Given the description of an element on the screen output the (x, y) to click on. 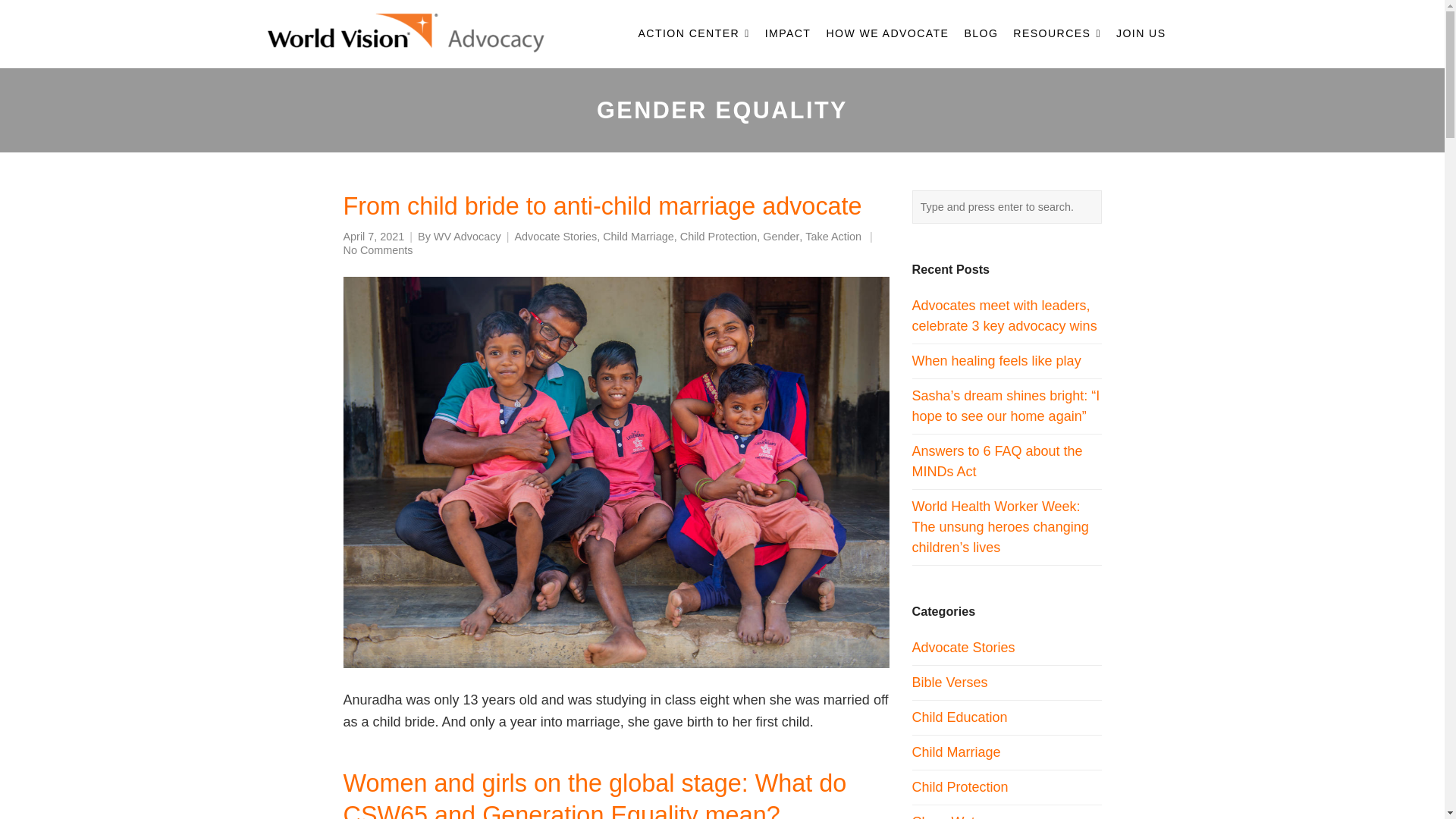
View all posts in Child Marriage (638, 237)
View all posts in Child Protection (718, 237)
View all posts in Take Action (833, 237)
View all posts in Gender (780, 237)
View all posts in Advocate Stories (554, 237)
